Given the description of an element on the screen output the (x, y) to click on. 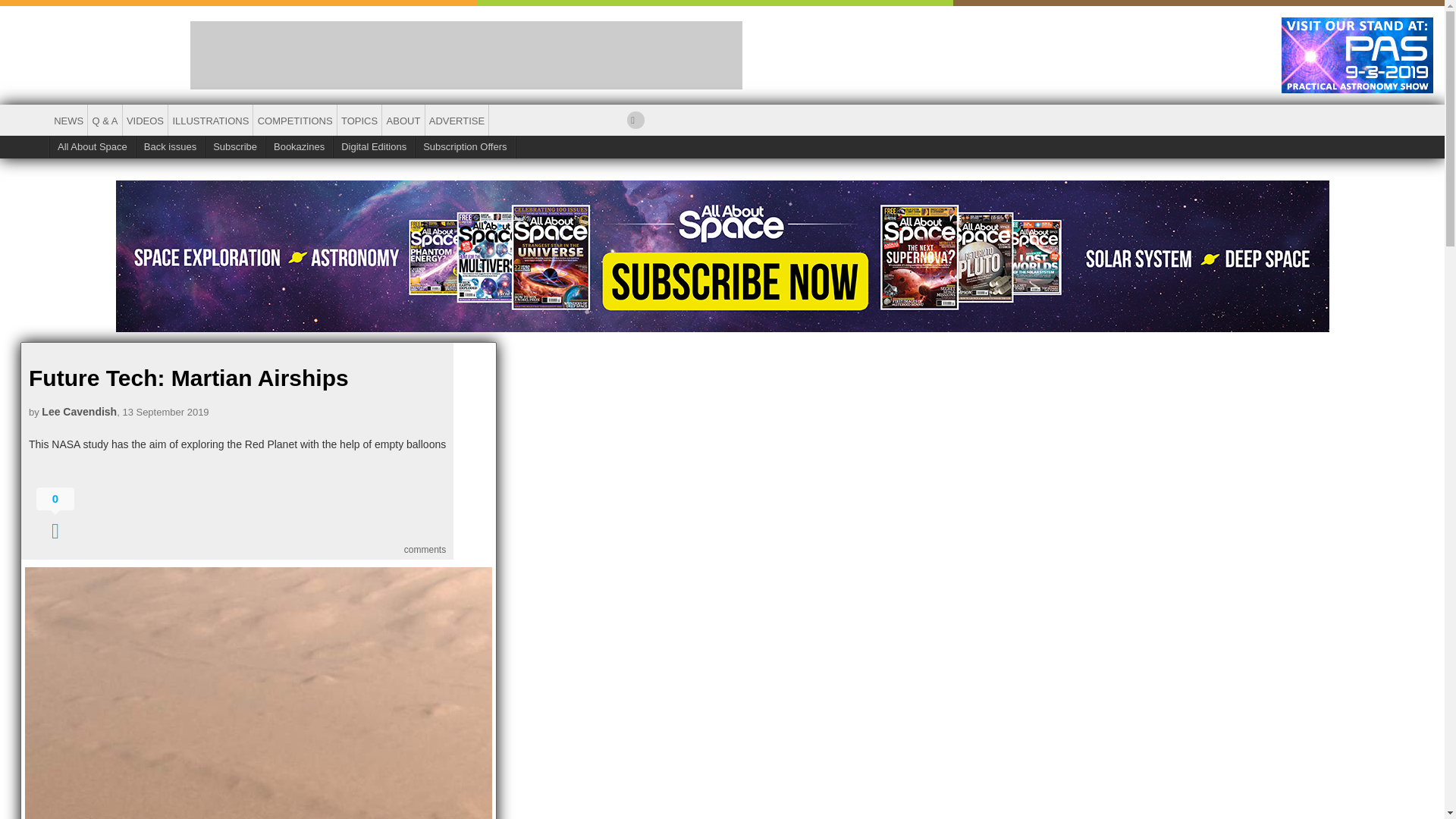
Digital Editions (373, 147)
NEWS (68, 120)
COMPETITIONS (294, 120)
VIDEOS (145, 120)
ILLUSTRATIONS (209, 120)
Subscribe (234, 147)
ADVERTISE (457, 120)
TOPICS (359, 120)
Bookazines (299, 147)
All About Space (92, 147)
